Given the description of an element on the screen output the (x, y) to click on. 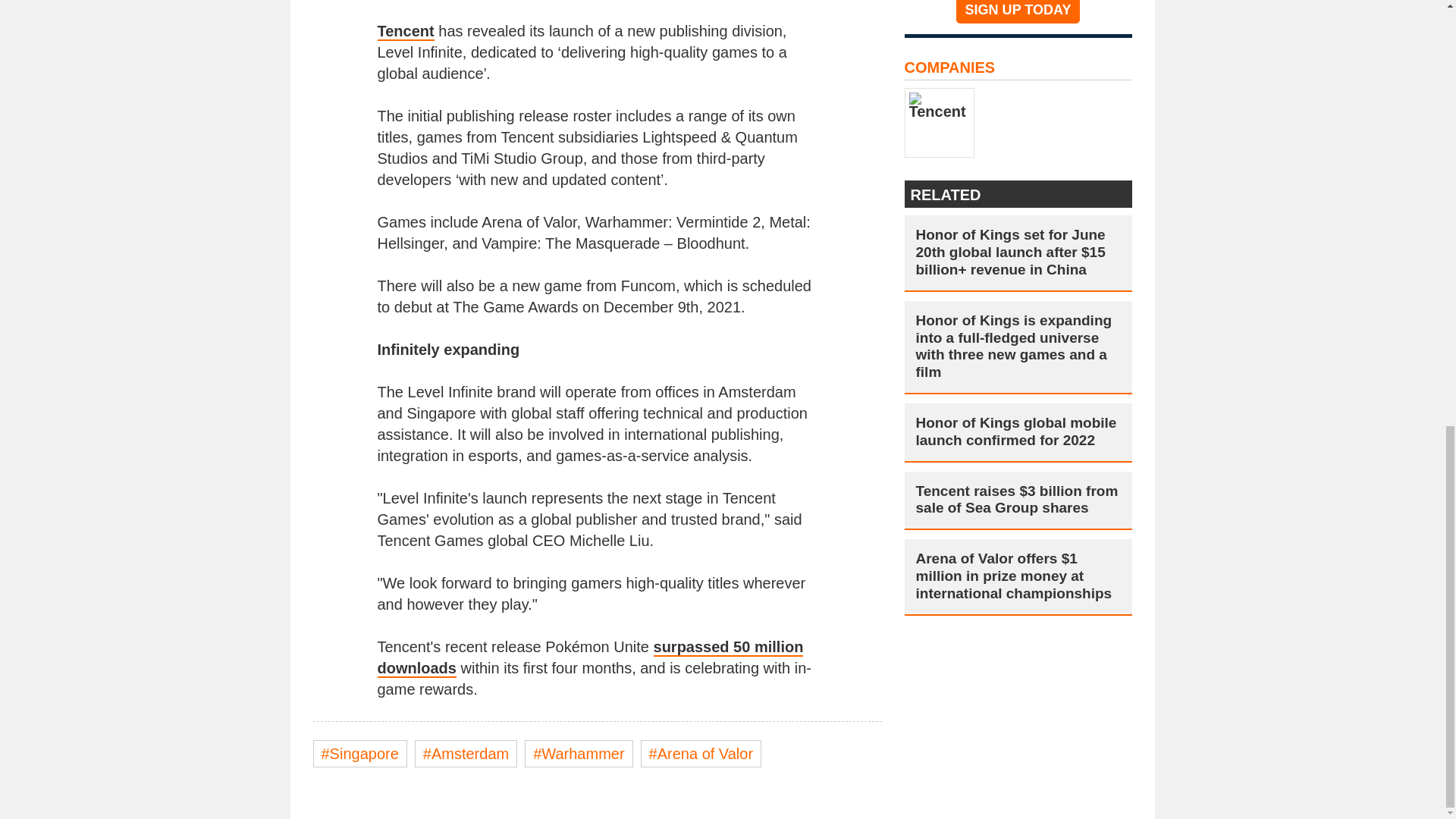
Tencent (405, 31)
Honor of Kings global mobile launch confirmed for 2022 (1017, 432)
surpassed 50 million downloads (590, 658)
